Given the description of an element on the screen output the (x, y) to click on. 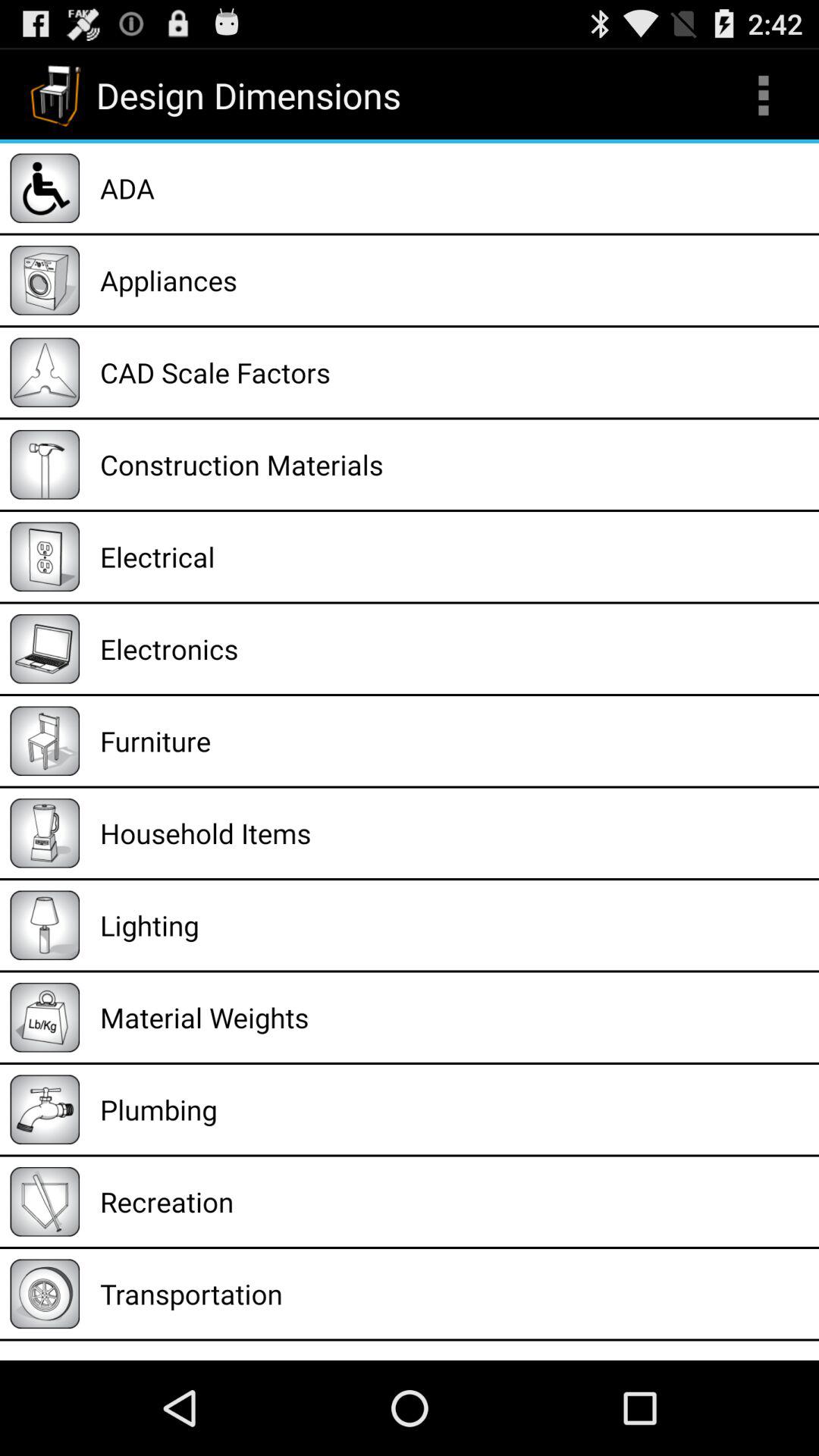
flip until the plumbing app (454, 1109)
